Given the description of an element on the screen output the (x, y) to click on. 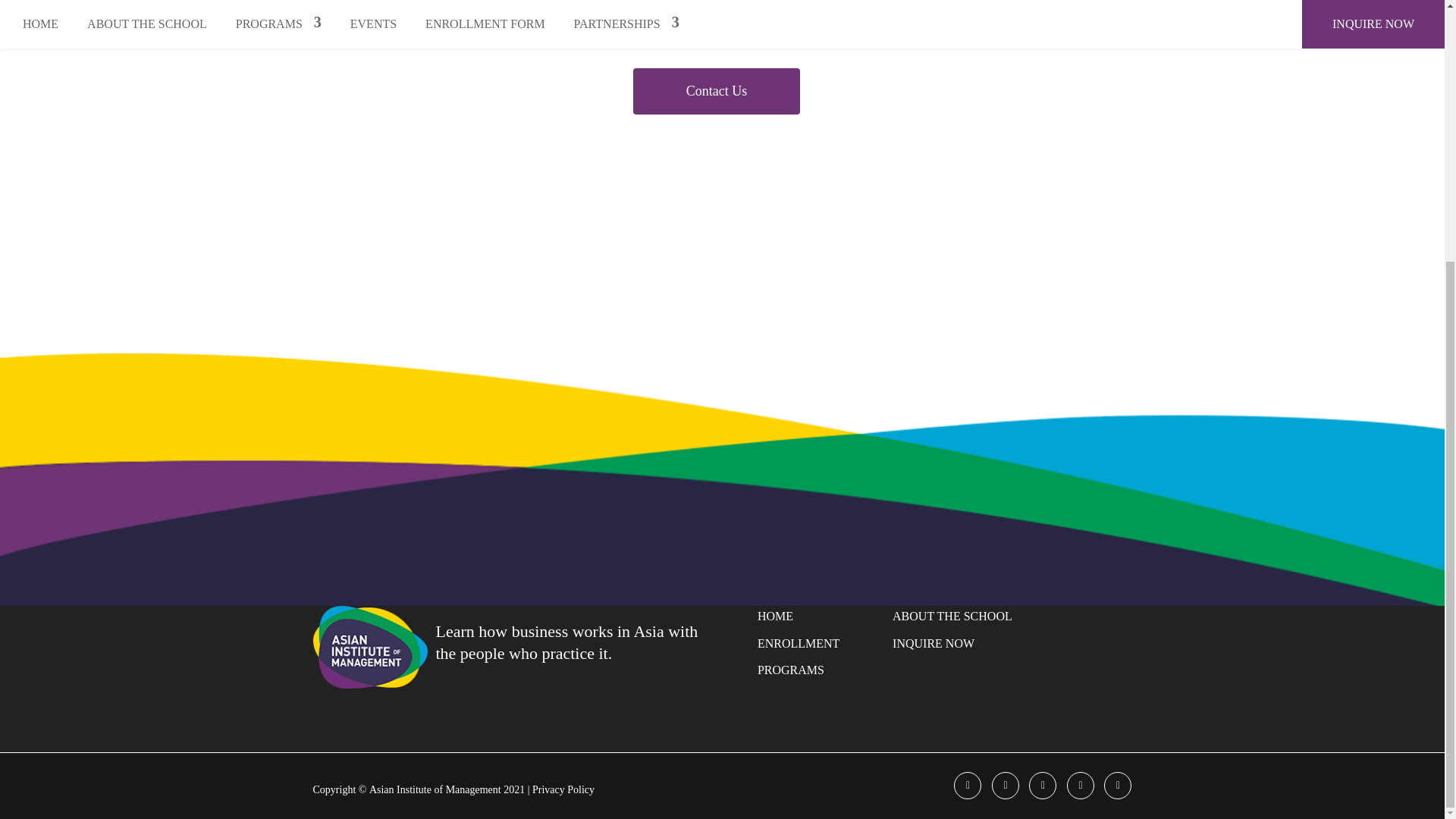
Youtube (1080, 785)
Contact Us (716, 90)
ABOUT THE SCHOOL (951, 615)
INQUIRE NOW (933, 643)
HOME (775, 615)
Privacy Policy (563, 789)
Twitter (1005, 785)
ENROLLMENT (798, 643)
Facebook (967, 785)
Asian Institute of Management (436, 789)
